Given the description of an element on the screen output the (x, y) to click on. 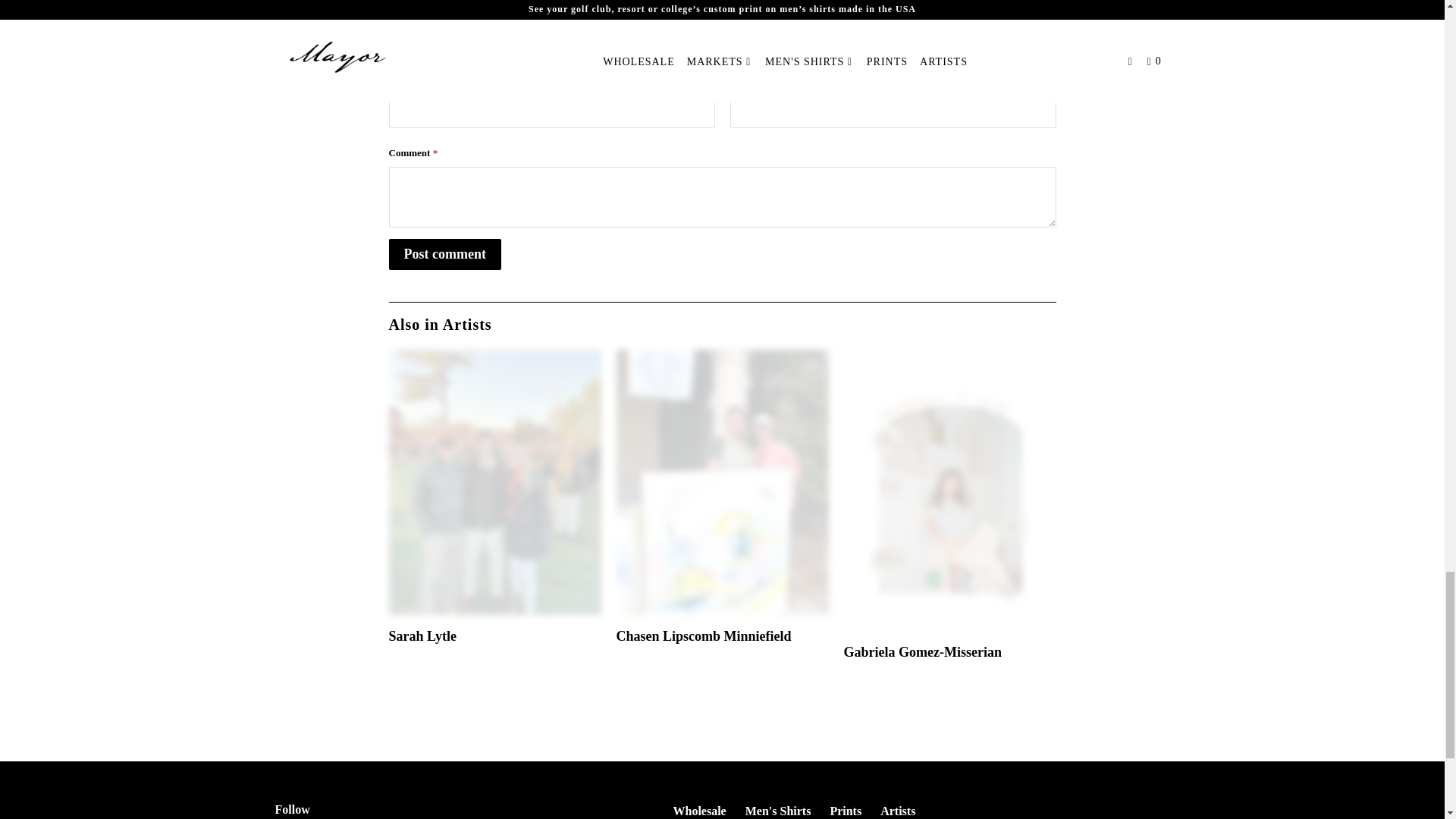
Chasen Lipscomb Minniefield (702, 635)
Gabriela Gomez-Misserian (949, 489)
Post comment (444, 254)
Chasen Lipscomb Minniefield (721, 482)
Sarah Lytle (493, 482)
Sarah Lytle (422, 635)
Gabriela Gomez-Misserian (922, 652)
